Given the description of an element on the screen output the (x, y) to click on. 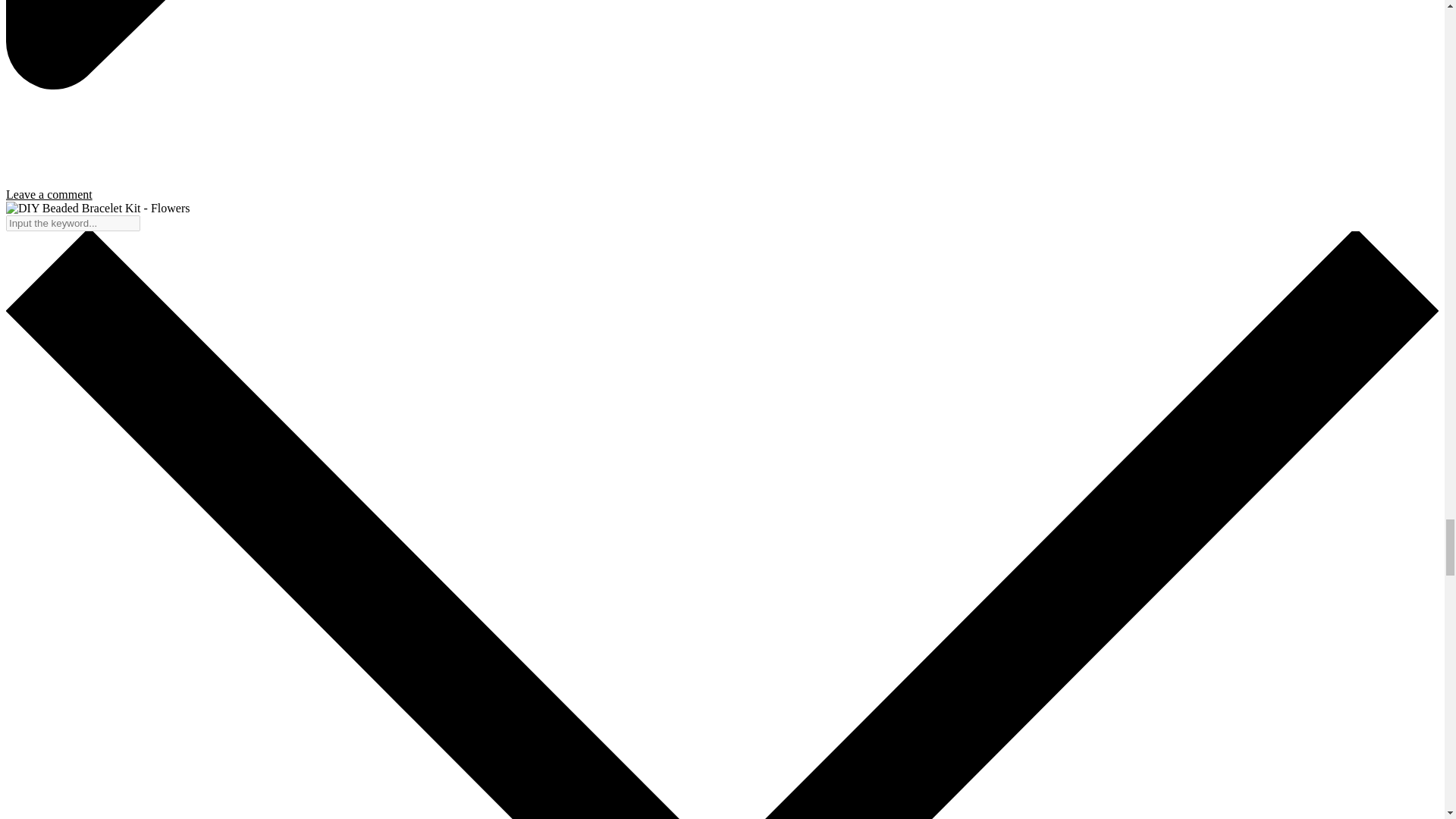
Leave a comment (49, 194)
